Given the description of an element on the screen output the (x, y) to click on. 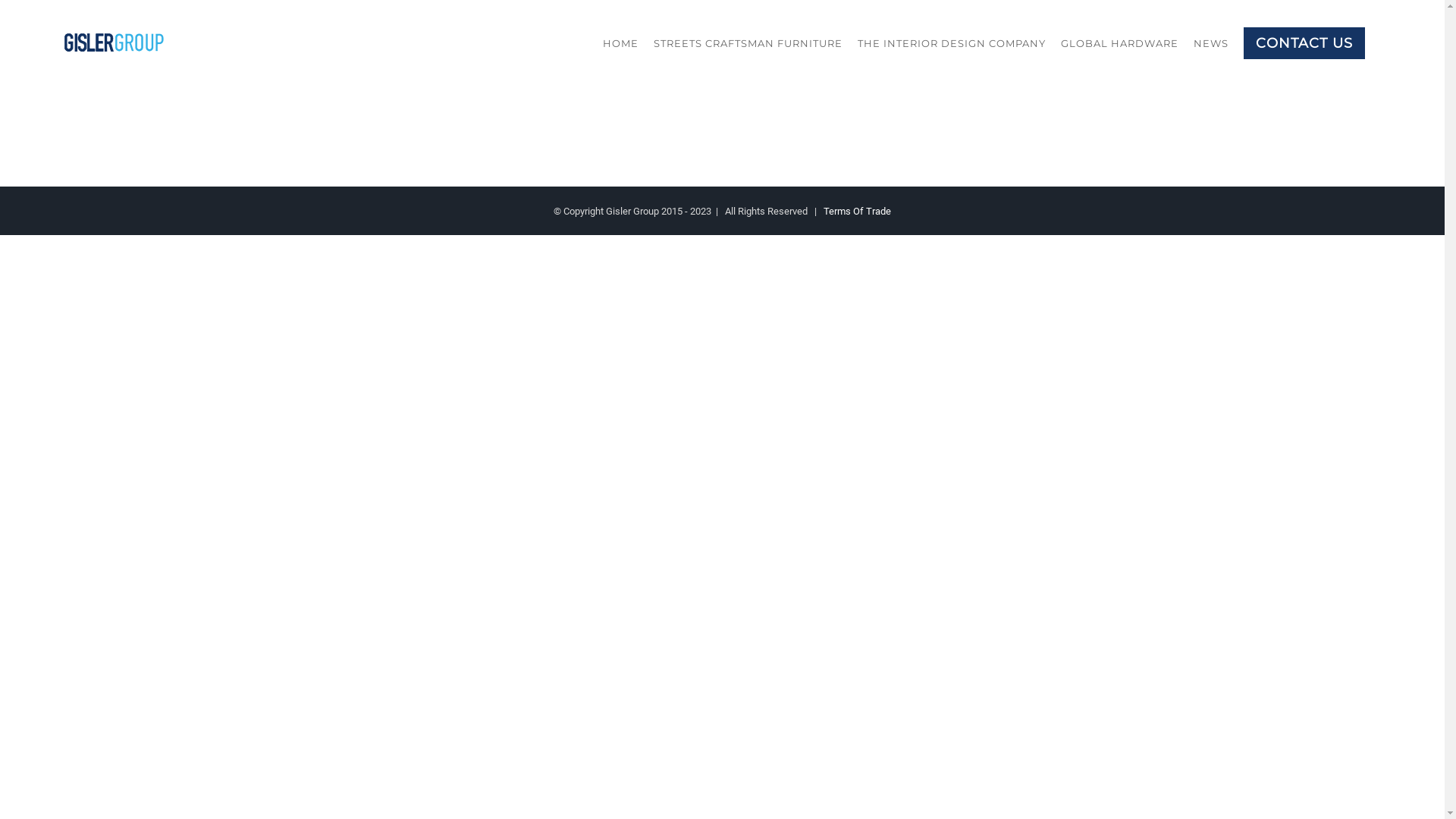
GLOBAL HARDWARE Element type: text (1119, 42)
STREETS CRAFTSMAN FURNITURE Element type: text (747, 42)
NEWS Element type: text (1210, 42)
Terms Of Trade Element type: text (857, 210)
HOME Element type: text (620, 42)
THE INTERIOR DESIGN COMPANY Element type: text (951, 42)
CONTACT US Element type: text (1304, 42)
